Given the description of an element on the screen output the (x, y) to click on. 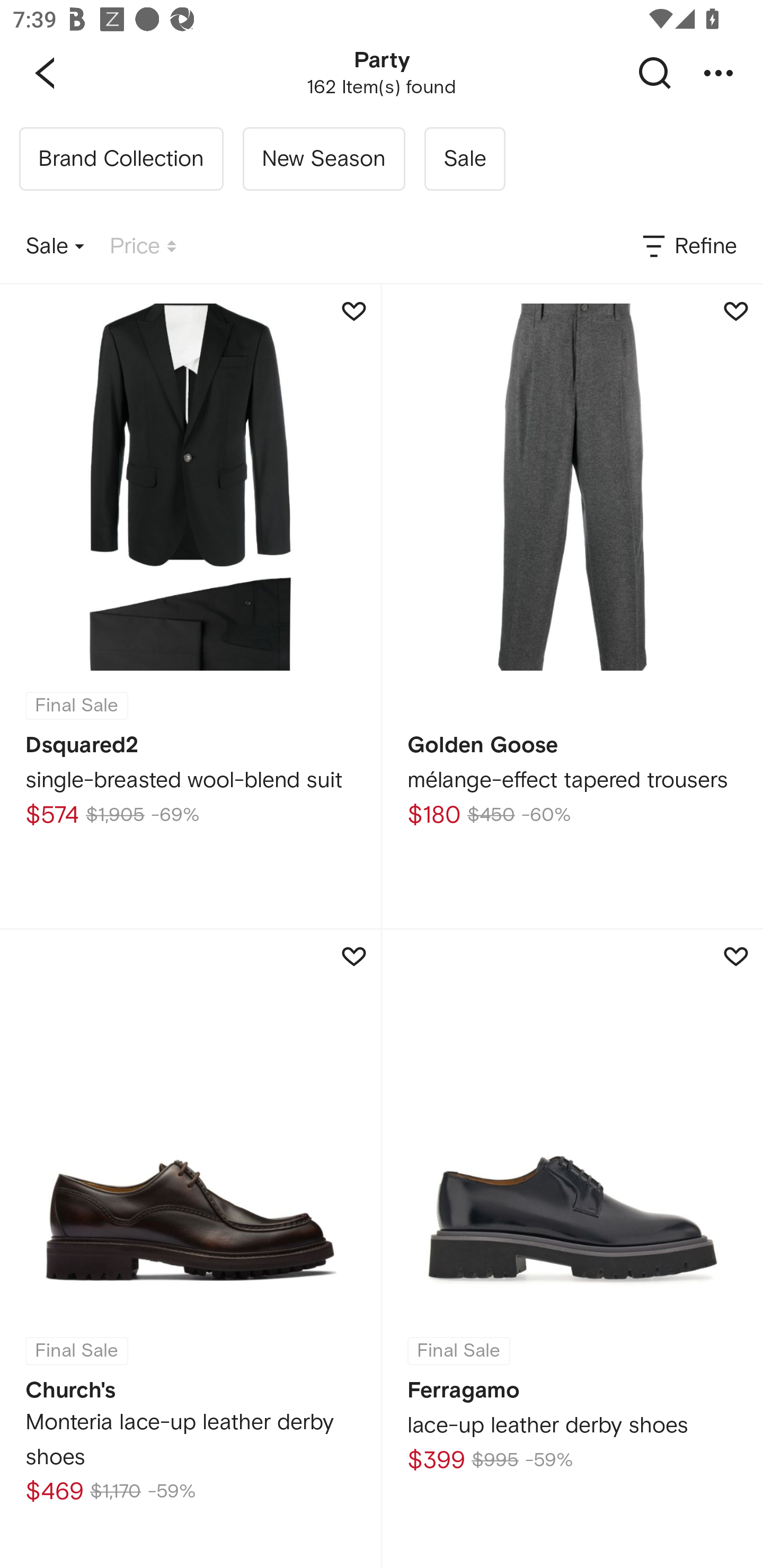
Brand Collection (121, 158)
New Season (323, 158)
Sale (464, 158)
Sale (54, 246)
Price (142, 246)
Refine (688, 246)
